Given the description of an element on the screen output the (x, y) to click on. 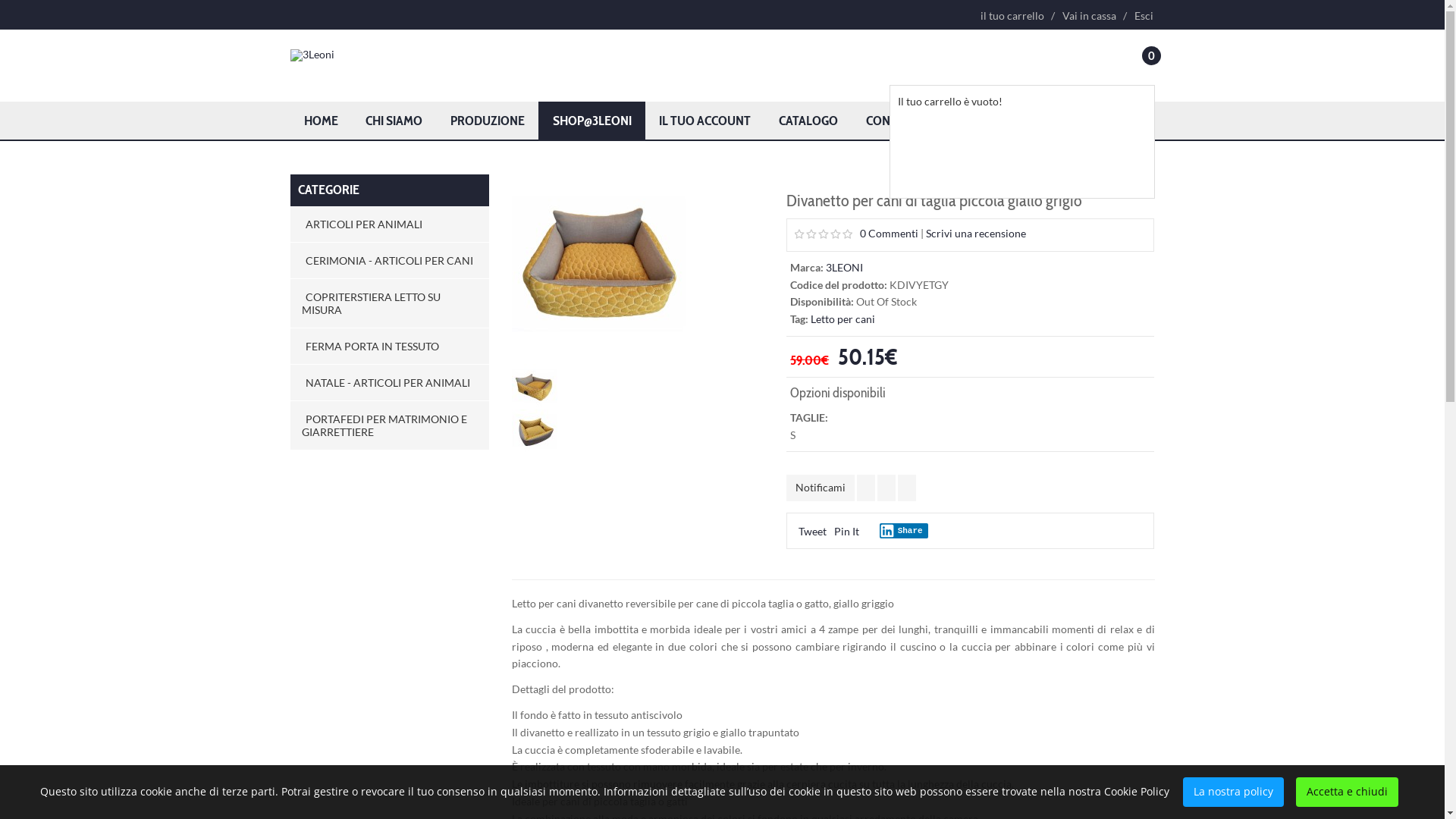
FERMA PORTA IN TESSUTO Element type: text (389, 346)
IL TUO ACCOUNT Element type: text (705, 120)
CHI SIAMO Element type: text (393, 120)
Accetta e chiudi Element type: text (1346, 791)
il tuo carrello Element type: text (1011, 15)
SHOP@3LEONI Element type: text (591, 120)
CATALOGO Element type: text (808, 120)
Divanetto per cani di taglia piccola giallo grigio Element type: hover (598, 261)
HOME Element type: text (320, 120)
COPRITERSTIERA LETTO SU MISURA Element type: text (389, 303)
CONTATTI Element type: text (892, 120)
PRODUZIONE Element type: text (487, 120)
Tweet Element type: text (812, 530)
Aggiungi alla Lista dei desideri Element type: text (865, 487)
ARTICOLI PER ANIMALI Element type: text (389, 223)
3LEONI Element type: text (843, 266)
Share Element type: text (903, 530)
0 Commenti Element type: text (888, 232)
NATALE - ARTICOLI PER ANIMALI Element type: text (389, 382)
CERIMONIA - ARTICOLI PER CANI Element type: text (389, 260)
Notificami Element type: text (820, 487)
Letto per cani Element type: text (842, 318)
3Leoni Element type: hover (311, 55)
Fai una domanda Element type: text (886, 487)
PORTAFEDI PER MATRIMONIO E GIARRETTIERE Element type: text (389, 425)
Scrivi una recensione Element type: text (975, 232)
  0 Element type: text (1144, 65)
Vai in cassa Element type: text (1088, 15)
Email a Friend Element type: text (906, 487)
Pin It Element type: text (846, 530)
La nostra policy Element type: text (1233, 791)
Esci Element type: text (1139, 15)
